Given the description of an element on the screen output the (x, y) to click on. 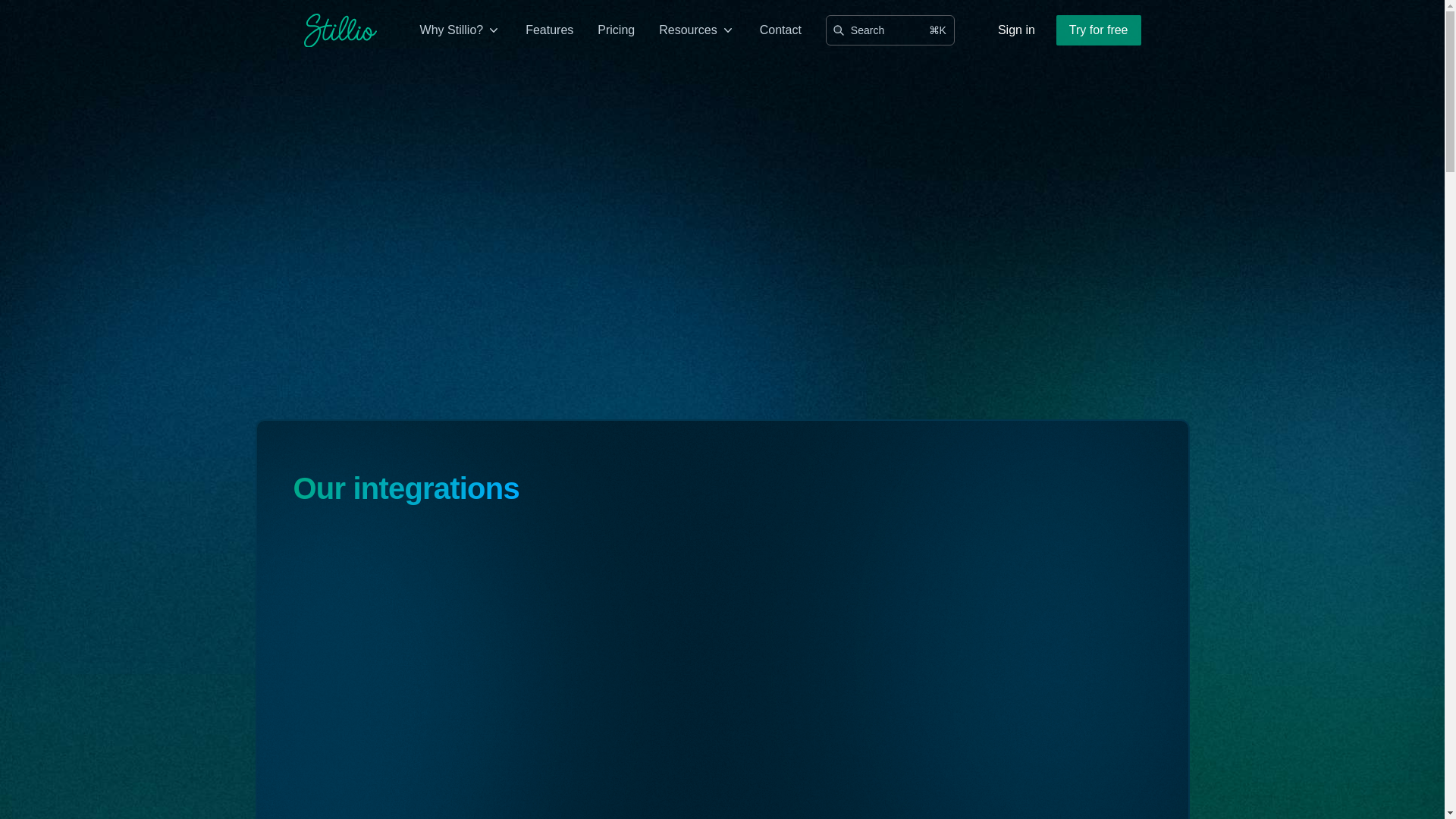
Resources (696, 30)
Why Stillio? (460, 30)
Sign in (1015, 30)
Pricing (615, 30)
Try for free (1099, 30)
Features (549, 30)
Contact (780, 30)
